Given the description of an element on the screen output the (x, y) to click on. 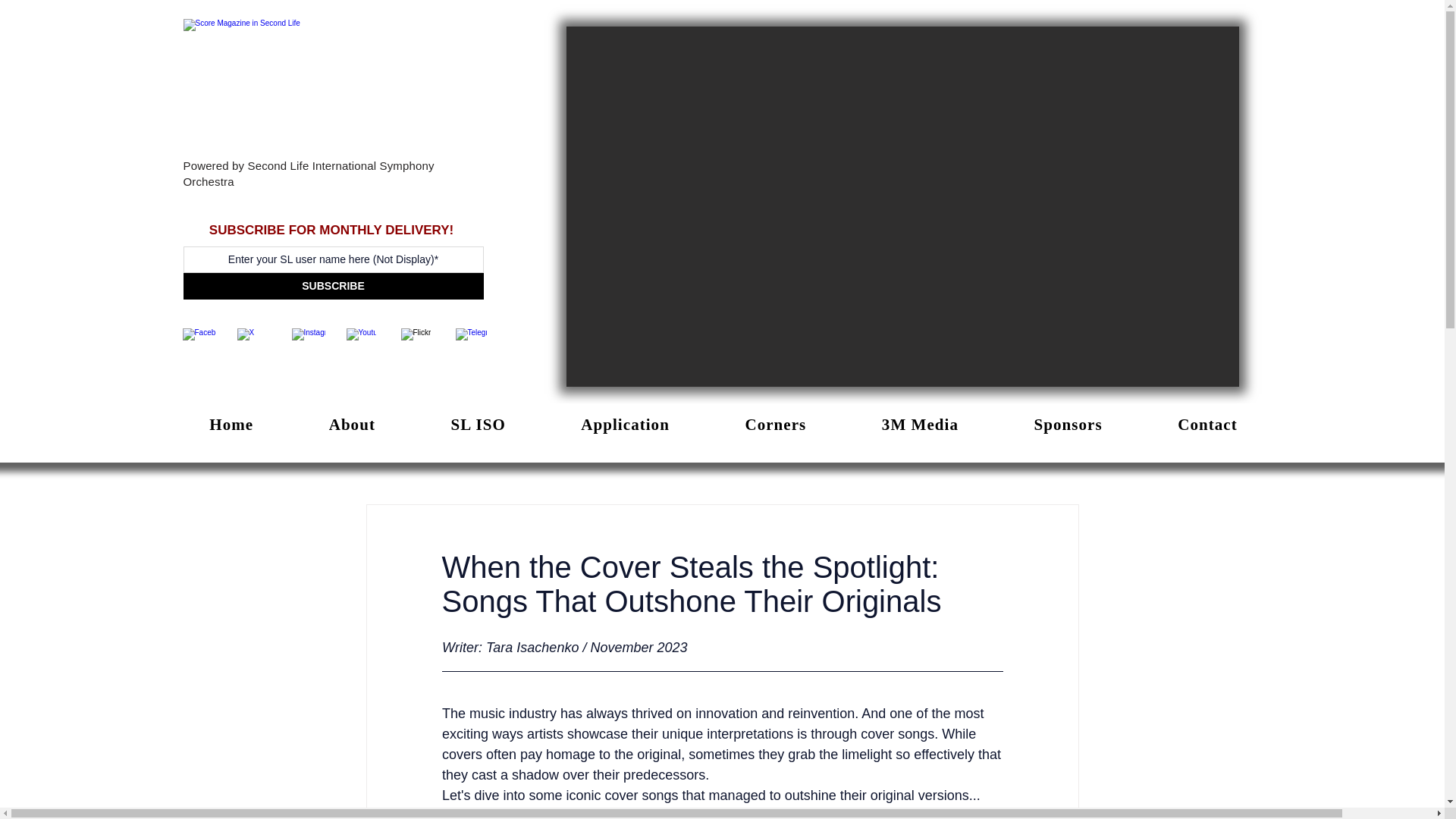
3M Media (919, 425)
SUBSCRIBE (333, 285)
About (352, 425)
Contact (1206, 425)
Home (230, 425)
SCORE - Black on White.png (333, 88)
Sponsors (1067, 425)
